Given the description of an element on the screen output the (x, y) to click on. 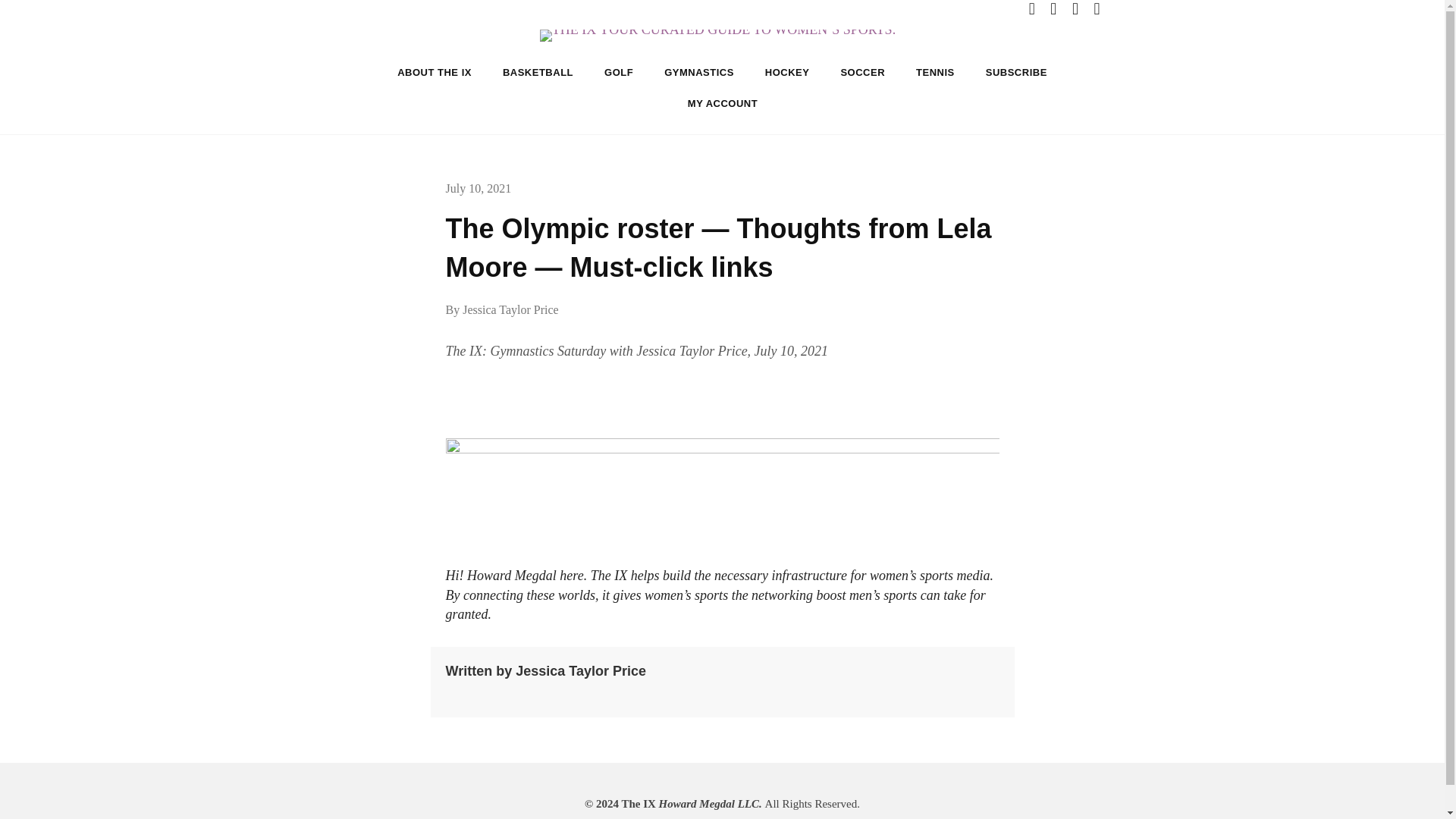
ABOUT THE IX (433, 71)
BASKETBALL (537, 71)
GOLF (618, 71)
SUBSCRIBE (1016, 71)
SOCCER (862, 71)
Jessica Taylor Price (511, 309)
TENNIS (935, 71)
HOCKEY (787, 71)
GYMNASTICS (699, 71)
MY ACCOUNT (722, 102)
